Given the description of an element on the screen output the (x, y) to click on. 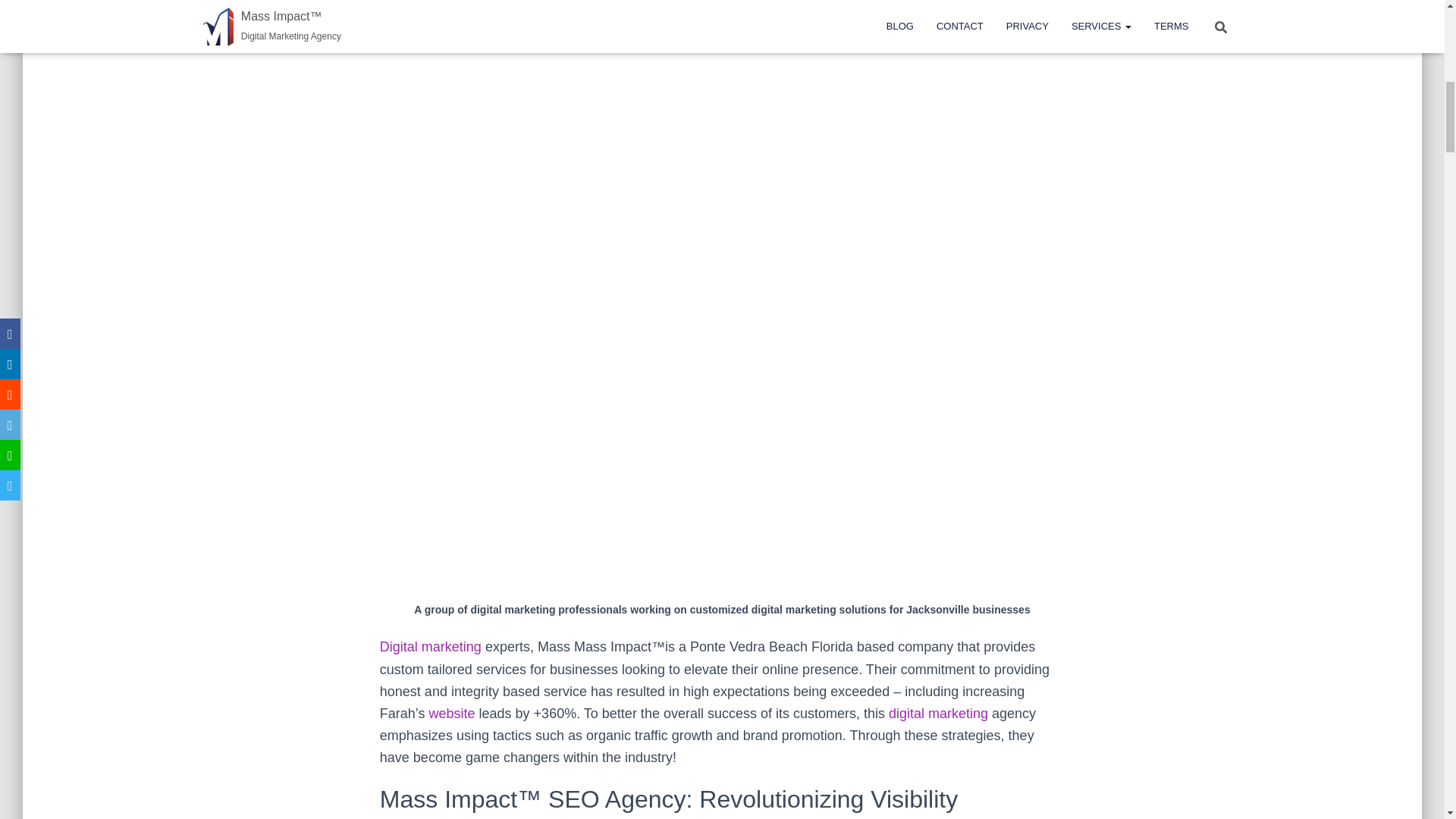
Digital marketing (430, 646)
website (452, 713)
digital marketing (938, 713)
